Given the description of an element on the screen output the (x, y) to click on. 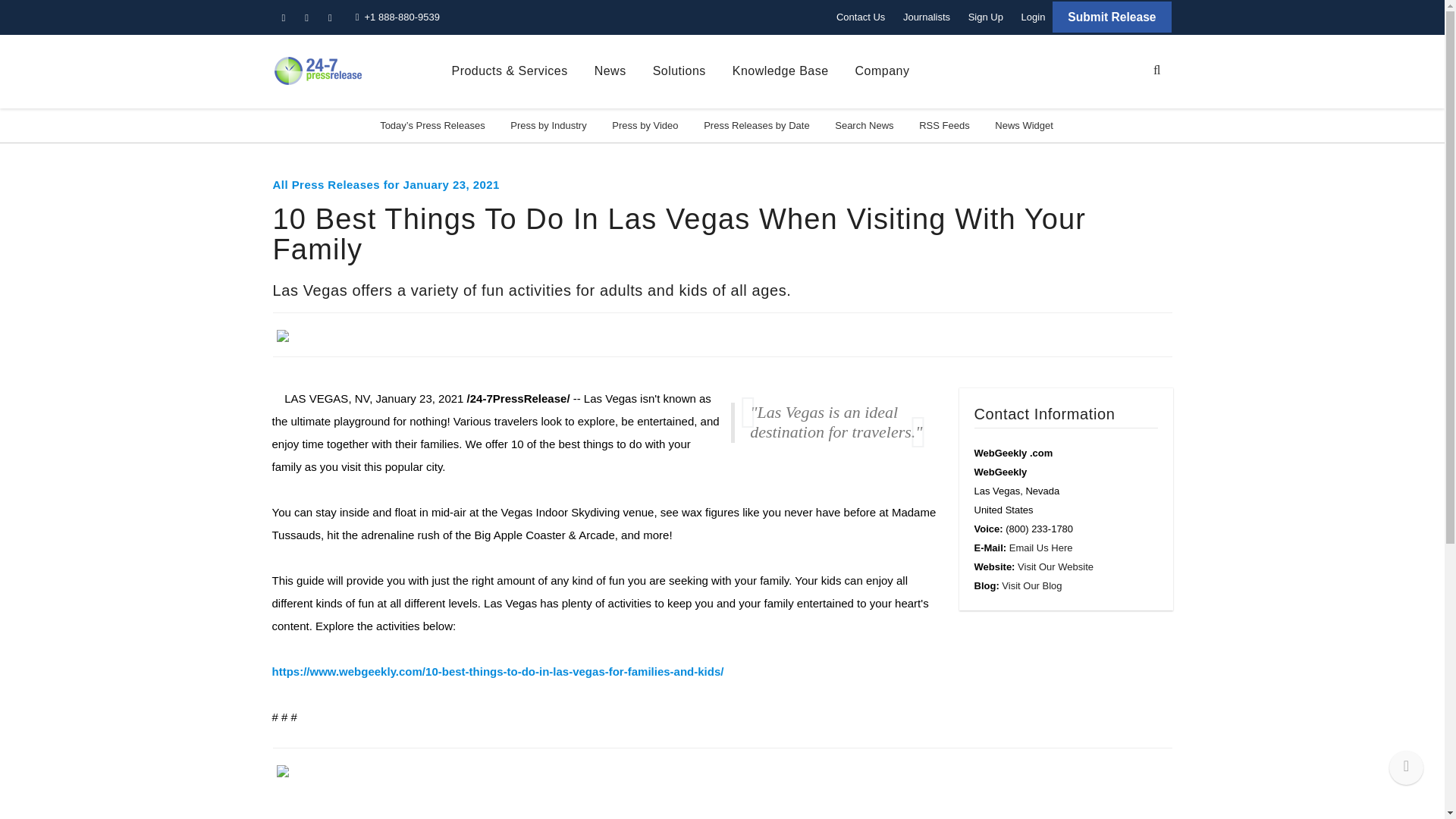
Submit Release (1111, 16)
Sign Up (985, 16)
Journalists (926, 16)
Contact Us (860, 16)
Company (882, 71)
Login (1032, 16)
Knowledge Base (780, 71)
Solutions (679, 71)
